Given the description of an element on the screen output the (x, y) to click on. 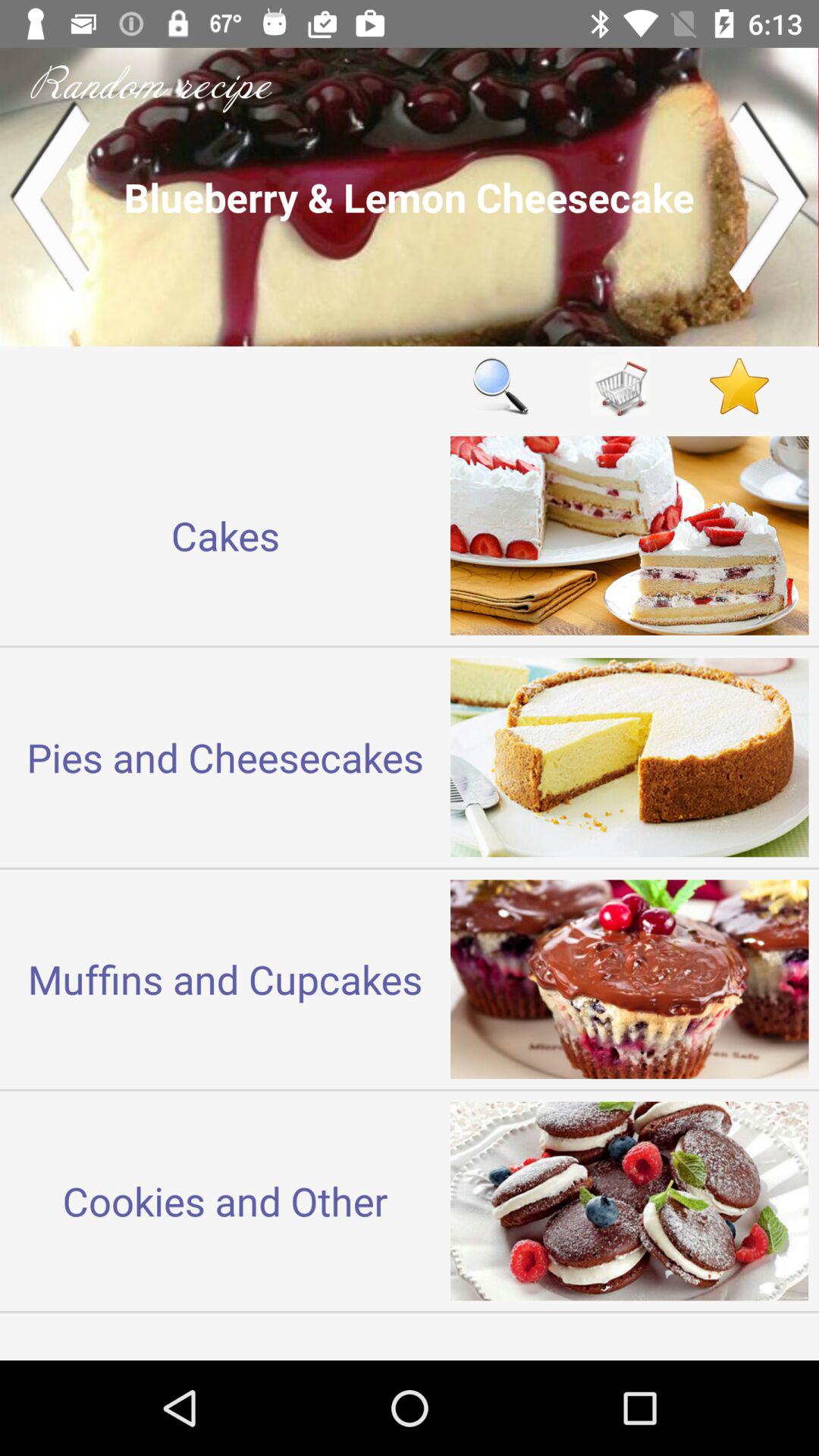
search button (500, 385)
